Given the description of an element on the screen output the (x, y) to click on. 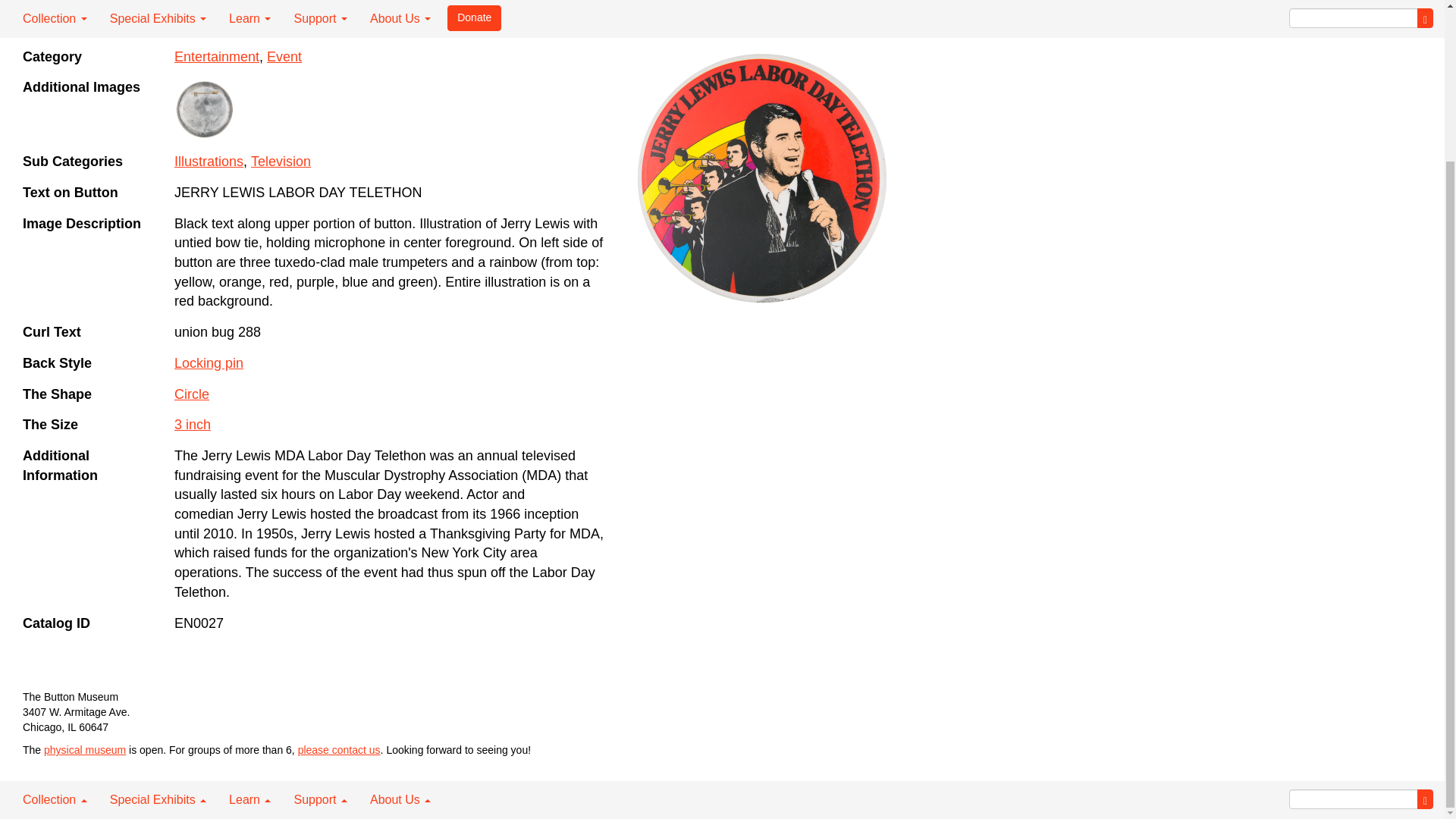
Entertainment (216, 56)
Television (280, 160)
Illustrations (208, 160)
Locking pin (208, 363)
Jerry Lewis Labor Day Telethon  (761, 178)
3 inch (192, 424)
physical museum (84, 749)
Jerry Lewis Labor Day Telethon back  (204, 109)
Event (283, 56)
Circle (191, 394)
